Given the description of an element on the screen output the (x, y) to click on. 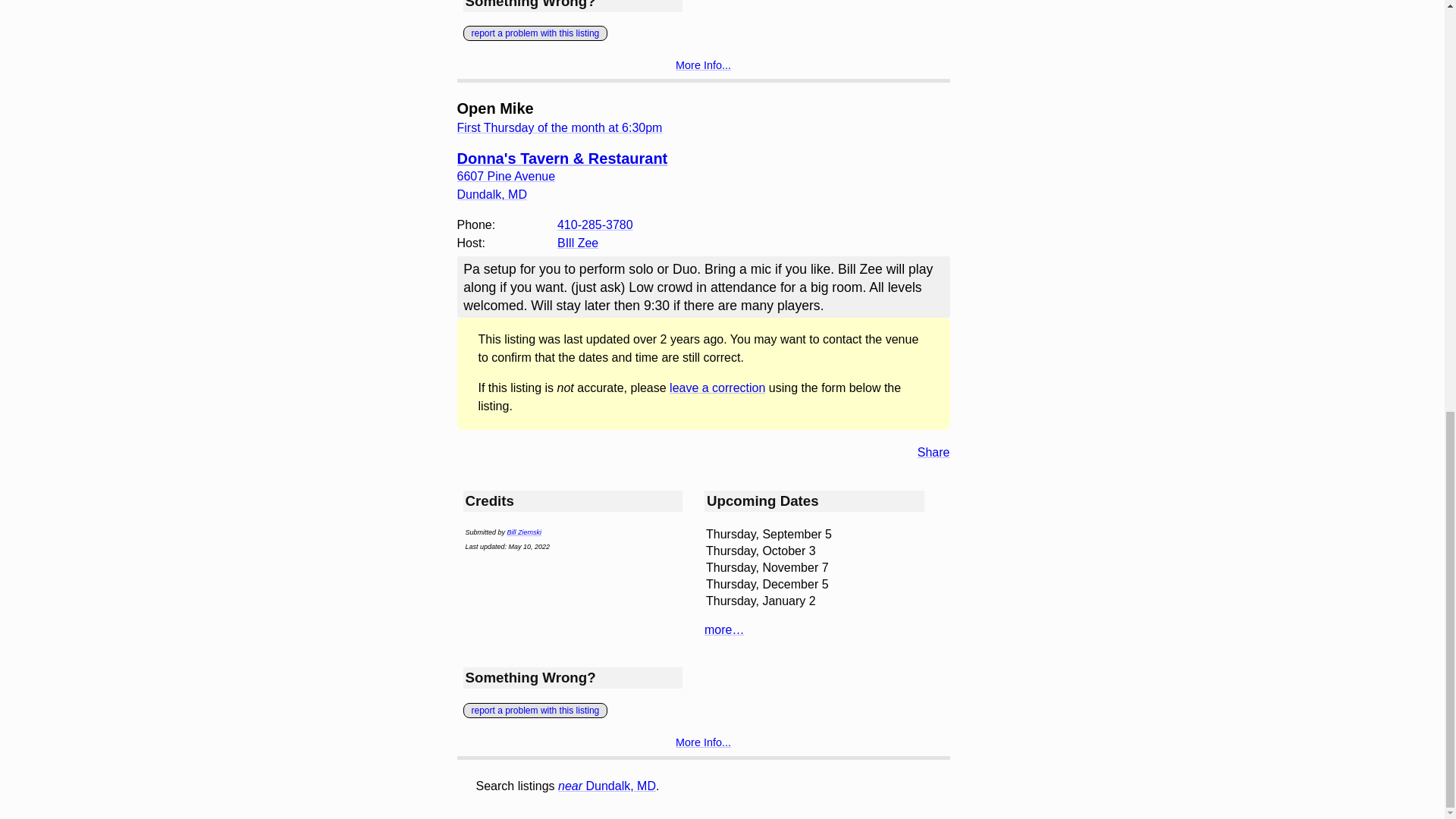
Dundalk, MD (491, 194)
report a problem with this listing (535, 32)
leave a correction (717, 387)
near Dundalk, MD (606, 785)
410-285-3780 (595, 225)
6607 Pine Avenue (505, 175)
First Thursday of the month at 6:30pm (559, 127)
More Info... (702, 742)
show next scheduled date (559, 127)
see full details (702, 64)
